Given the description of an element on the screen output the (x, y) to click on. 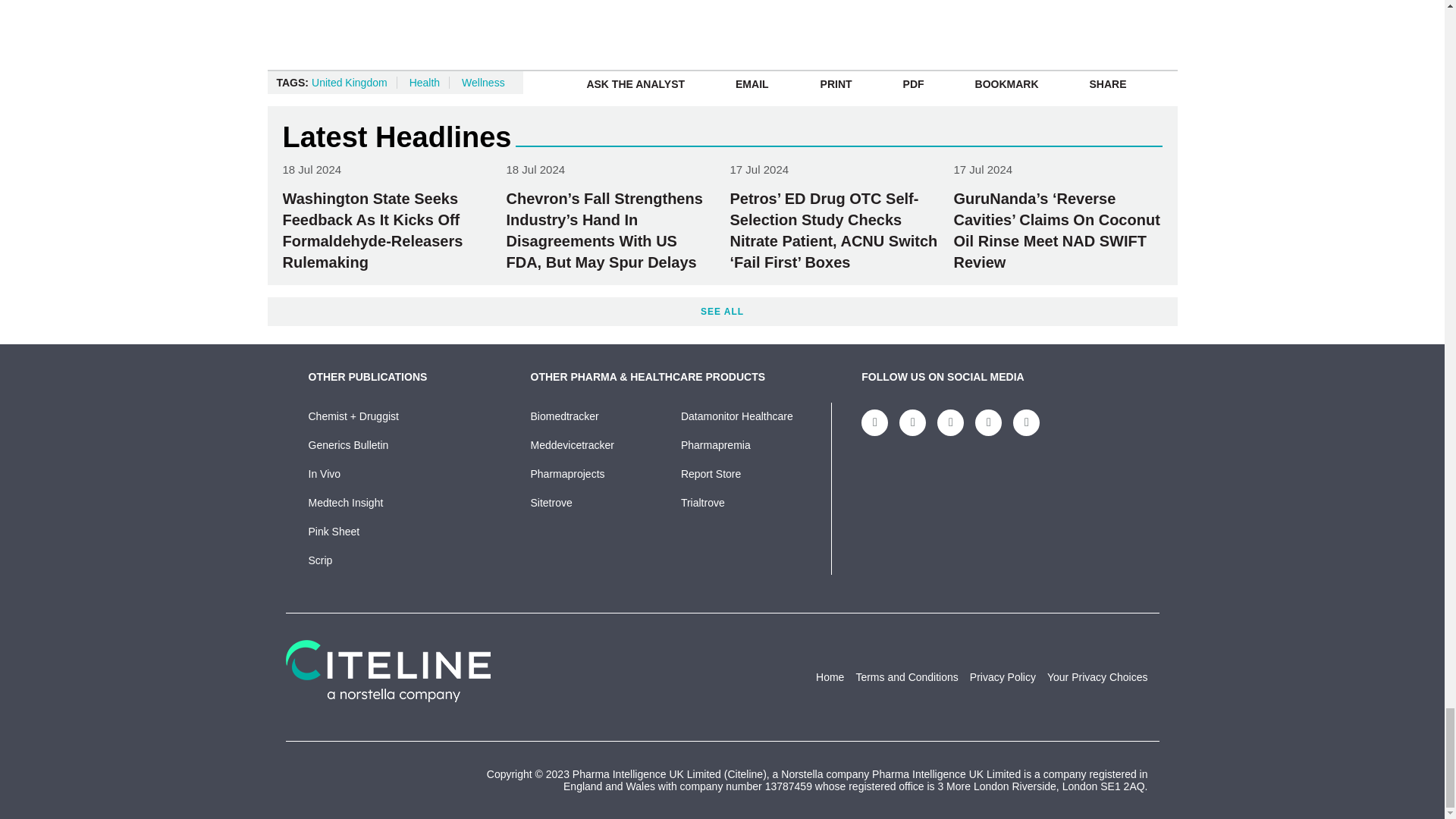
3rd party ad content (634, 23)
